Given the description of an element on the screen output the (x, y) to click on. 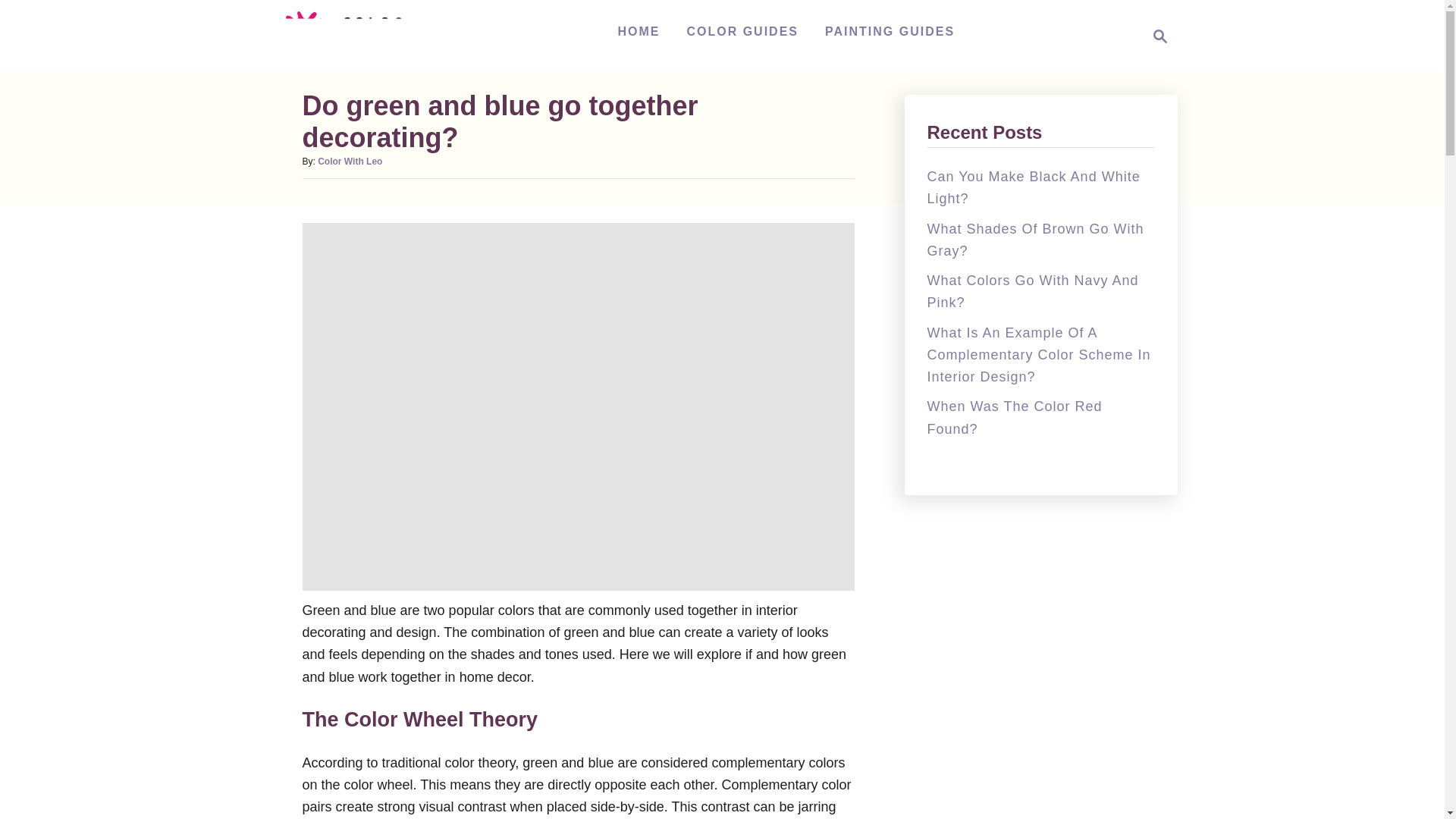
Color With Leo (349, 161)
Can You Make Black And White Light? (1033, 187)
Color With Leo (353, 35)
HOME (638, 31)
When Was The Color Red Found? (1014, 416)
What Shades Of Brown Go With Gray? (1034, 239)
COLOR GUIDES (742, 31)
PAINTING GUIDES (889, 31)
Magnifying Glass (1160, 36)
What Colors Go With Navy And Pink? (1155, 36)
